Given the description of an element on the screen output the (x, y) to click on. 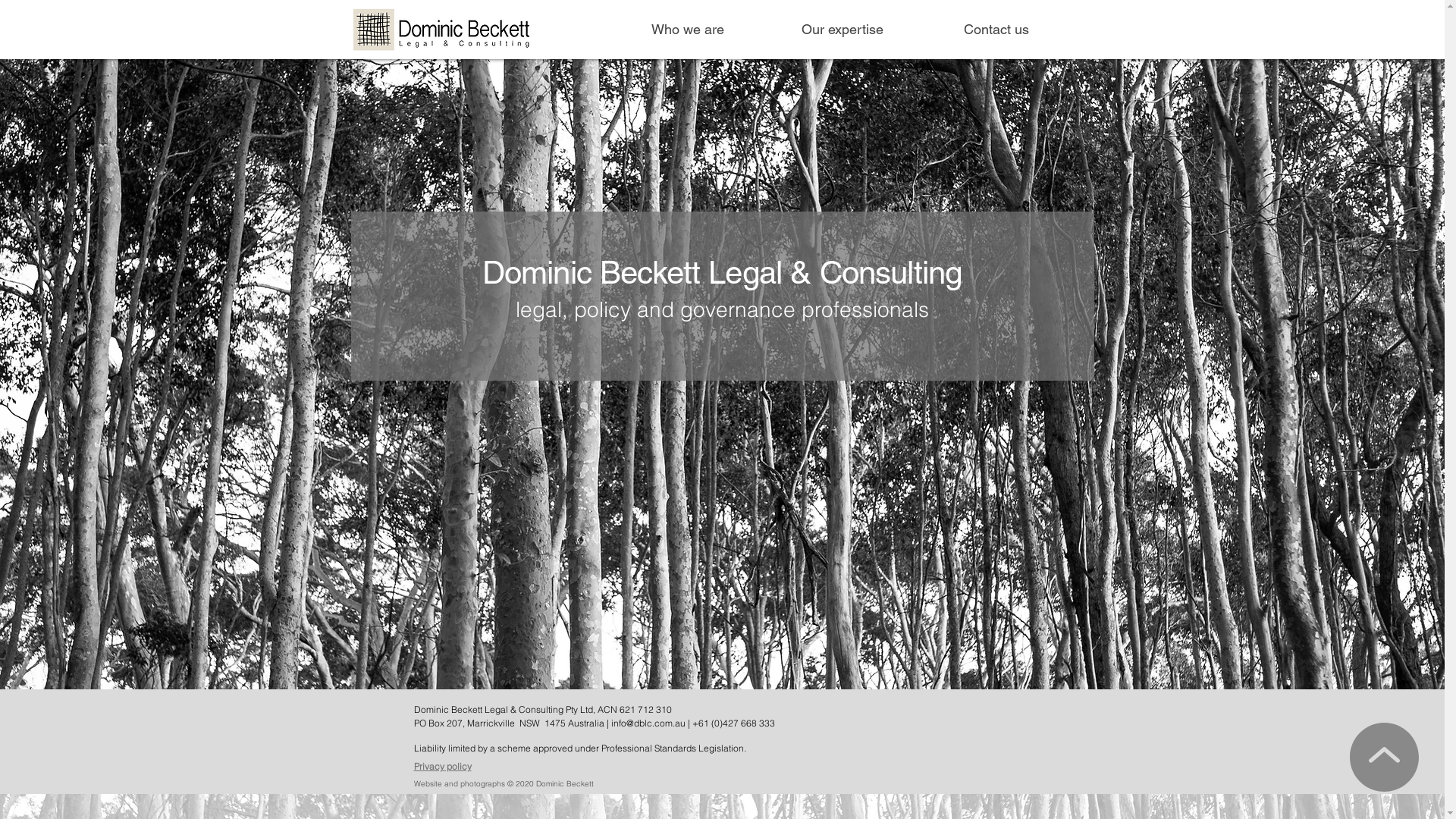
Who we are Element type: text (688, 29)
info@dblc.com.au Element type: text (648, 722)
Our expertise Element type: text (841, 29)
Contact us Element type: text (996, 29)
Privacy policy Element type: text (442, 765)
